Given the description of an element on the screen output the (x, y) to click on. 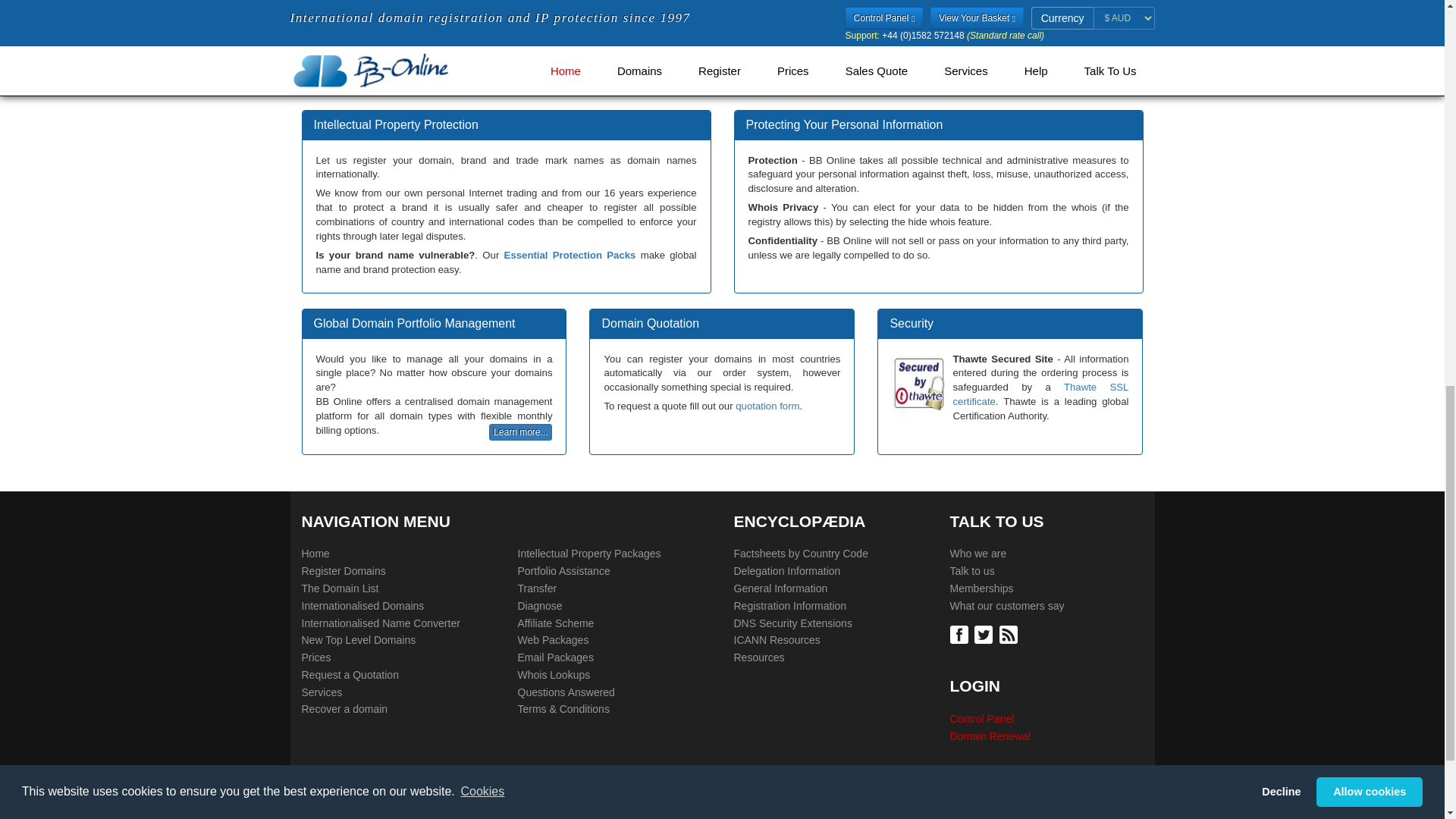
WhoIs (552, 675)
Affiliate Scheme (555, 623)
Email Packages (554, 657)
New Top Level Domains (358, 640)
Popular Domains Prices (316, 657)
Our BB Online Services (321, 693)
Domain Recovery (344, 709)
Health Check (539, 606)
Web Packages (552, 640)
Global Domain Portfolio Management (563, 571)
Domains List (339, 589)
Internationalised (363, 606)
International Domain Names (315, 554)
Register Your Domains (343, 571)
Intellectual Property Packages (588, 554)
